Given the description of an element on the screen output the (x, y) to click on. 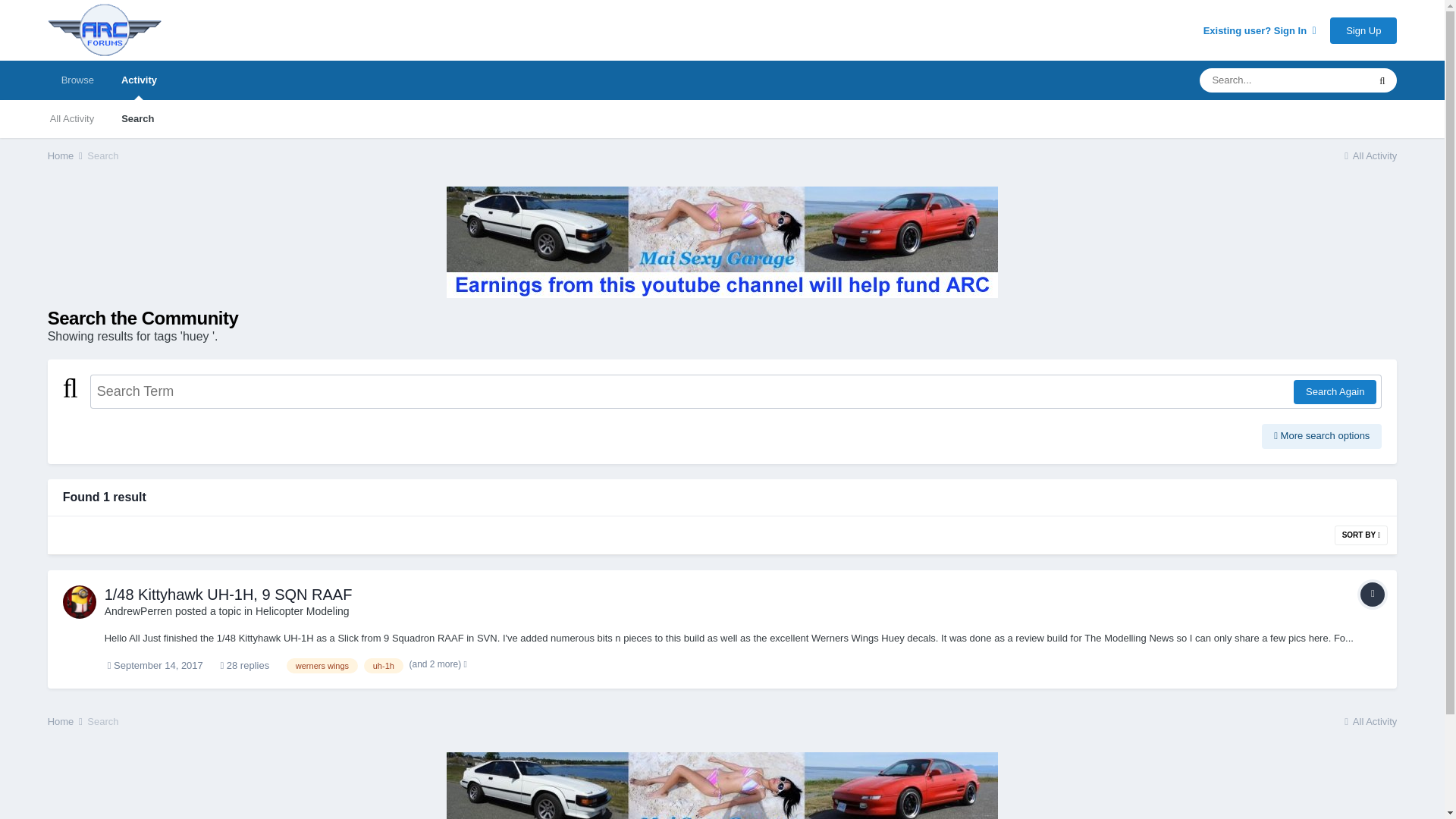
Activity (138, 79)
Find other content tagged with 'werners wings' (322, 665)
Existing user? Sign In   (1260, 30)
Home (66, 155)
Search (102, 155)
All Activity (1369, 155)
Home (66, 721)
Sign Up (1363, 29)
Topic (1371, 594)
Go to AndrewPerren's profile (79, 602)
Find other content tagged with 'uh-1h' (383, 665)
All Activity (71, 118)
Go to AndrewPerren's profile (138, 611)
Search Again (1334, 392)
More search options (1321, 435)
